Given the description of an element on the screen output the (x, y) to click on. 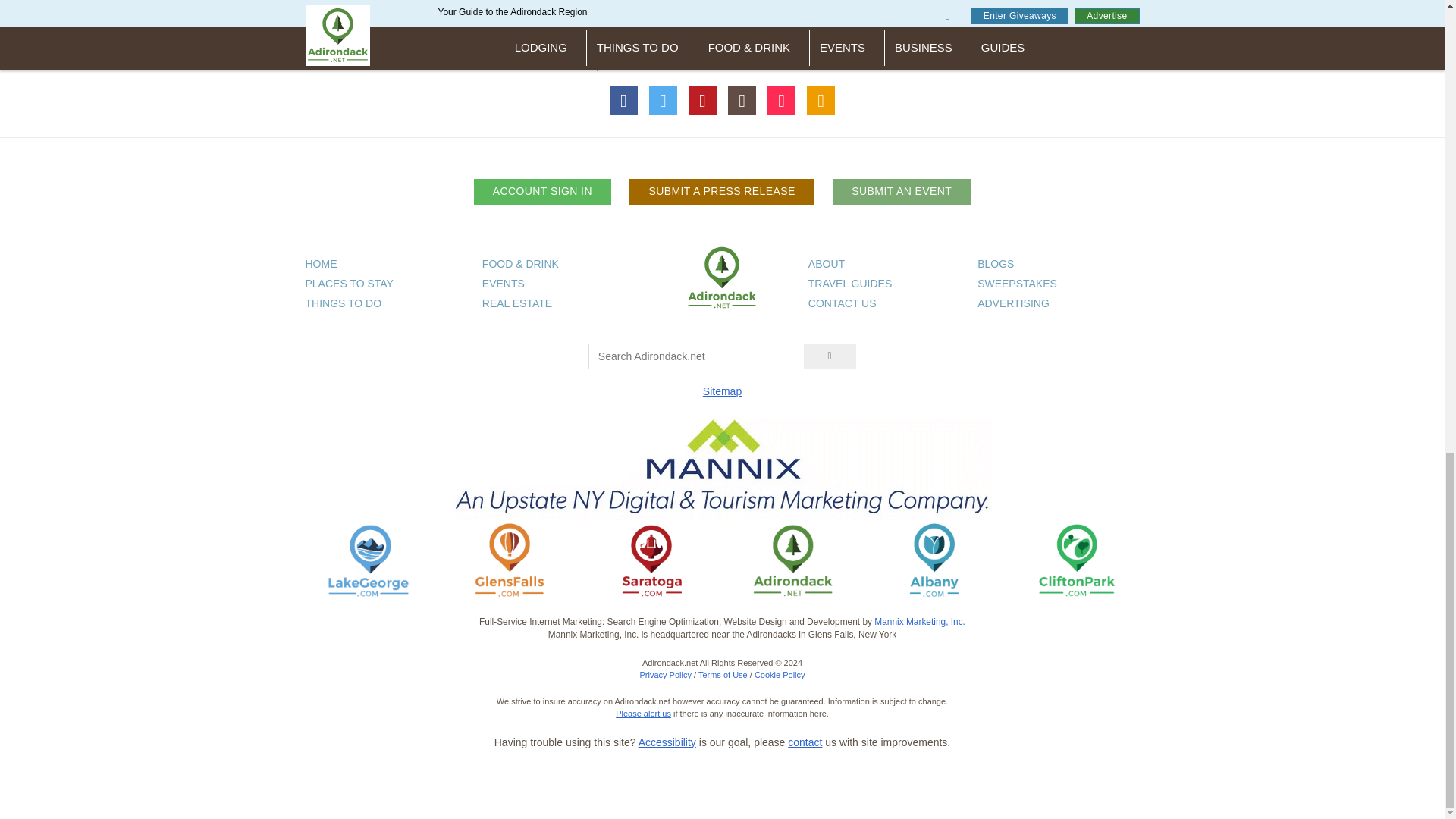
Facebook (624, 100)
My Planner (820, 100)
Opens in a new window (651, 559)
Opens in a new window (368, 559)
Opens in a new window (933, 559)
Opens in a new window (509, 559)
Pinterest (702, 100)
Instagram (742, 100)
Opens in a new window (1075, 559)
TikTok (781, 100)
X (663, 100)
